Given the description of an element on the screen output the (x, y) to click on. 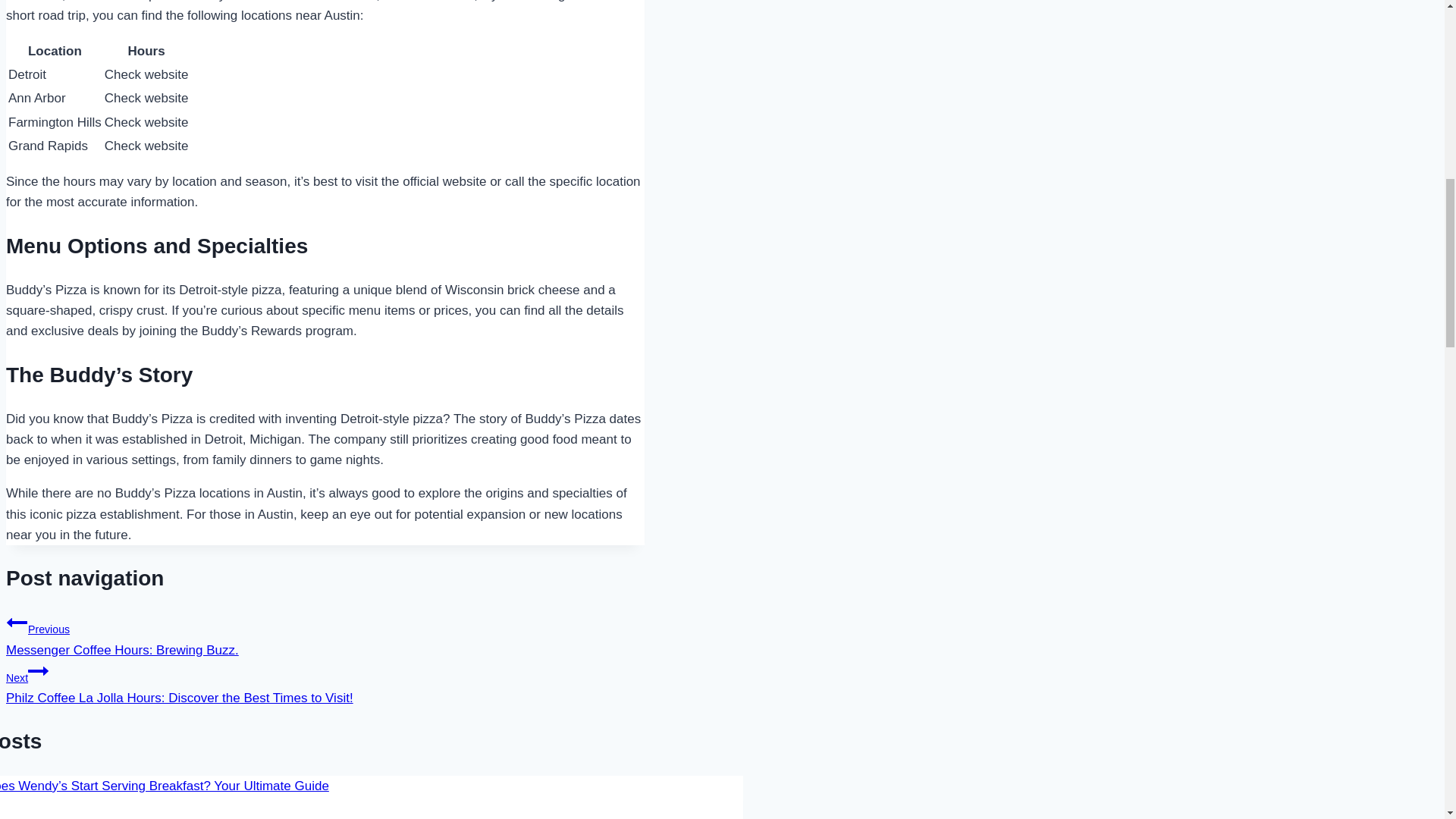
Previous (16, 622)
Continue (325, 633)
